Given the description of an element on the screen output the (x, y) to click on. 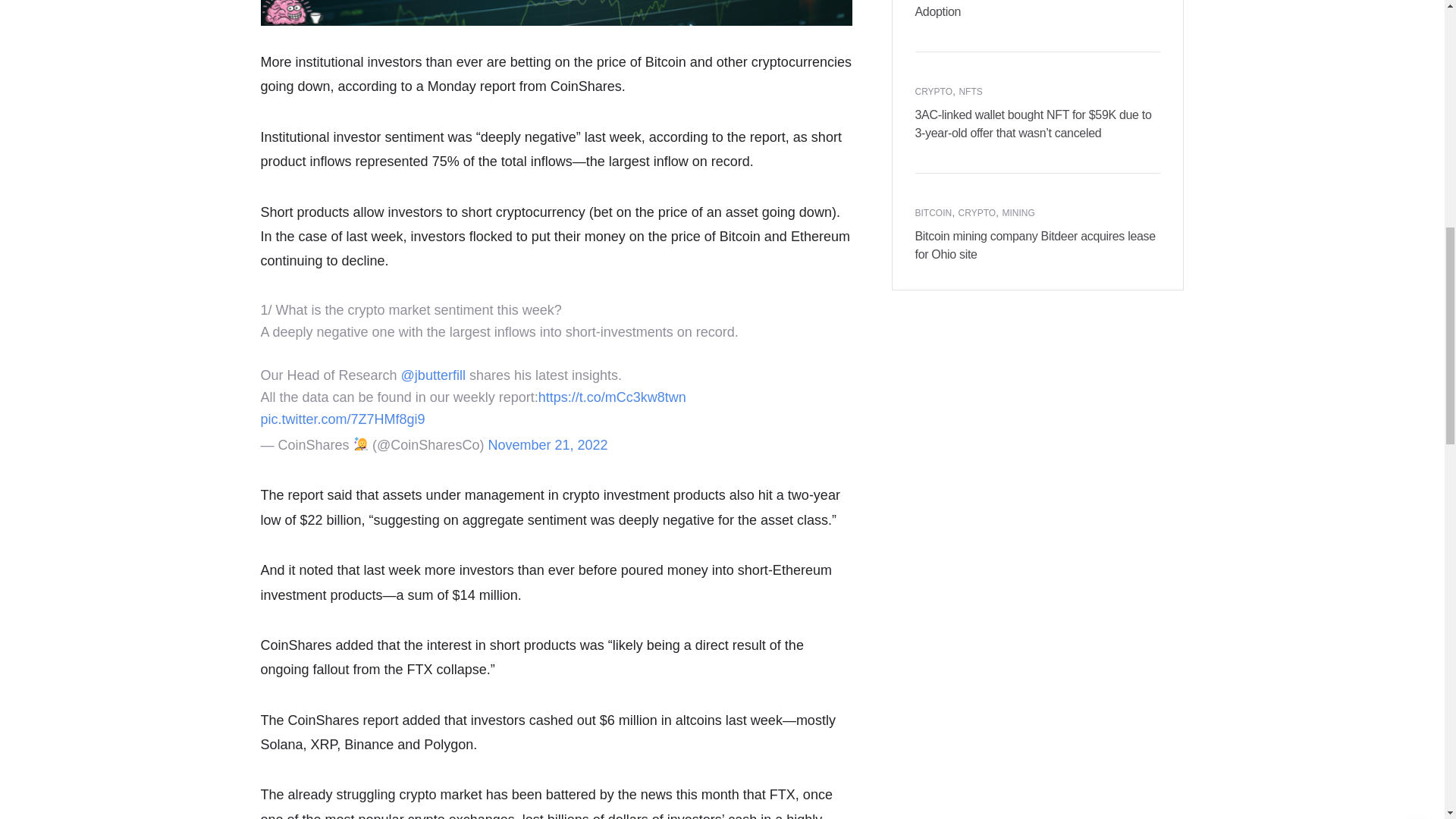
November 21, 2022 (547, 444)
